Given the description of an element on the screen output the (x, y) to click on. 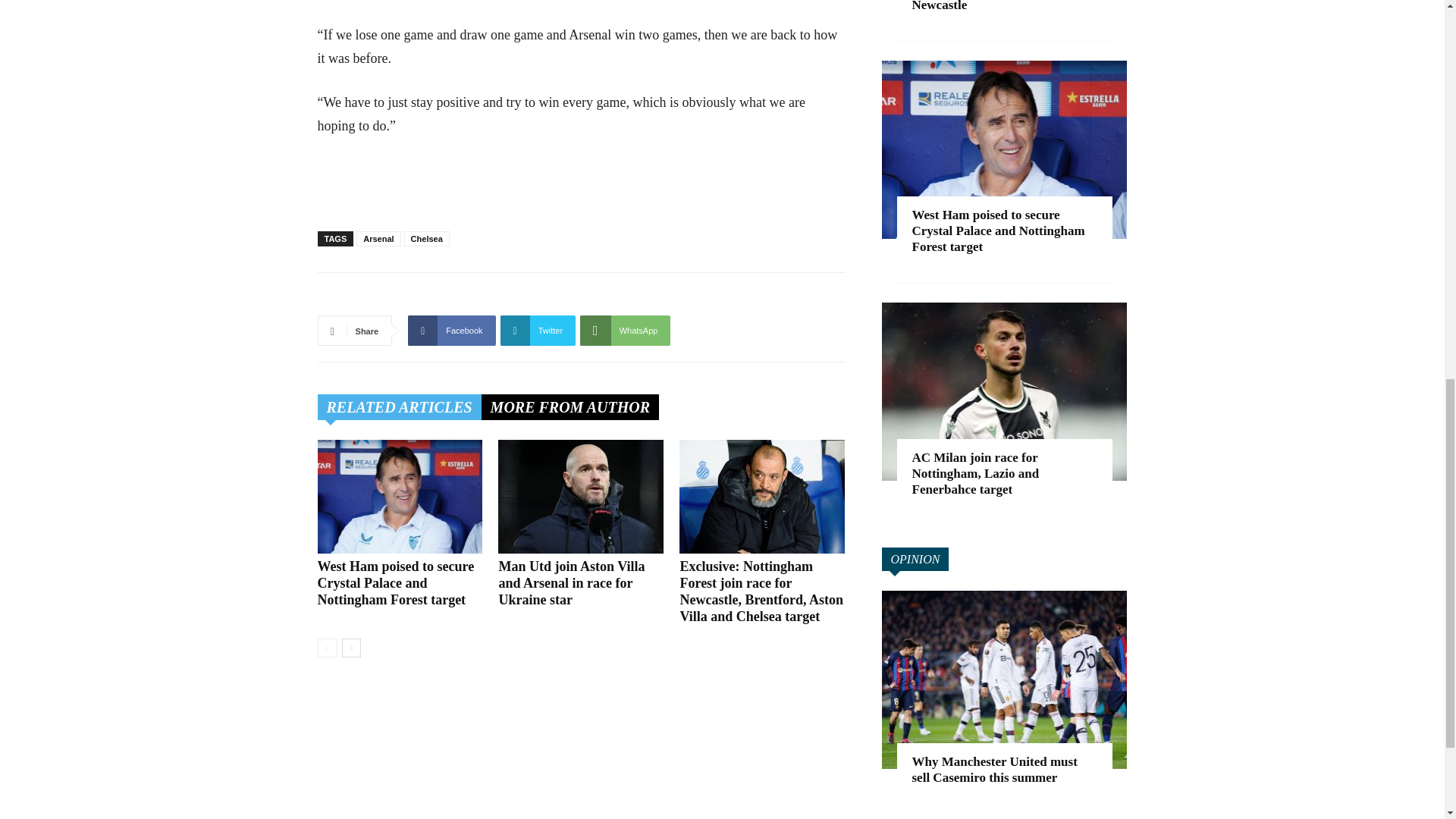
WhatsApp (624, 330)
Chelsea (426, 238)
Facebook (451, 330)
bottomFacebookLike (430, 296)
Arsenal (378, 238)
Twitter (538, 330)
